Given the description of an element on the screen output the (x, y) to click on. 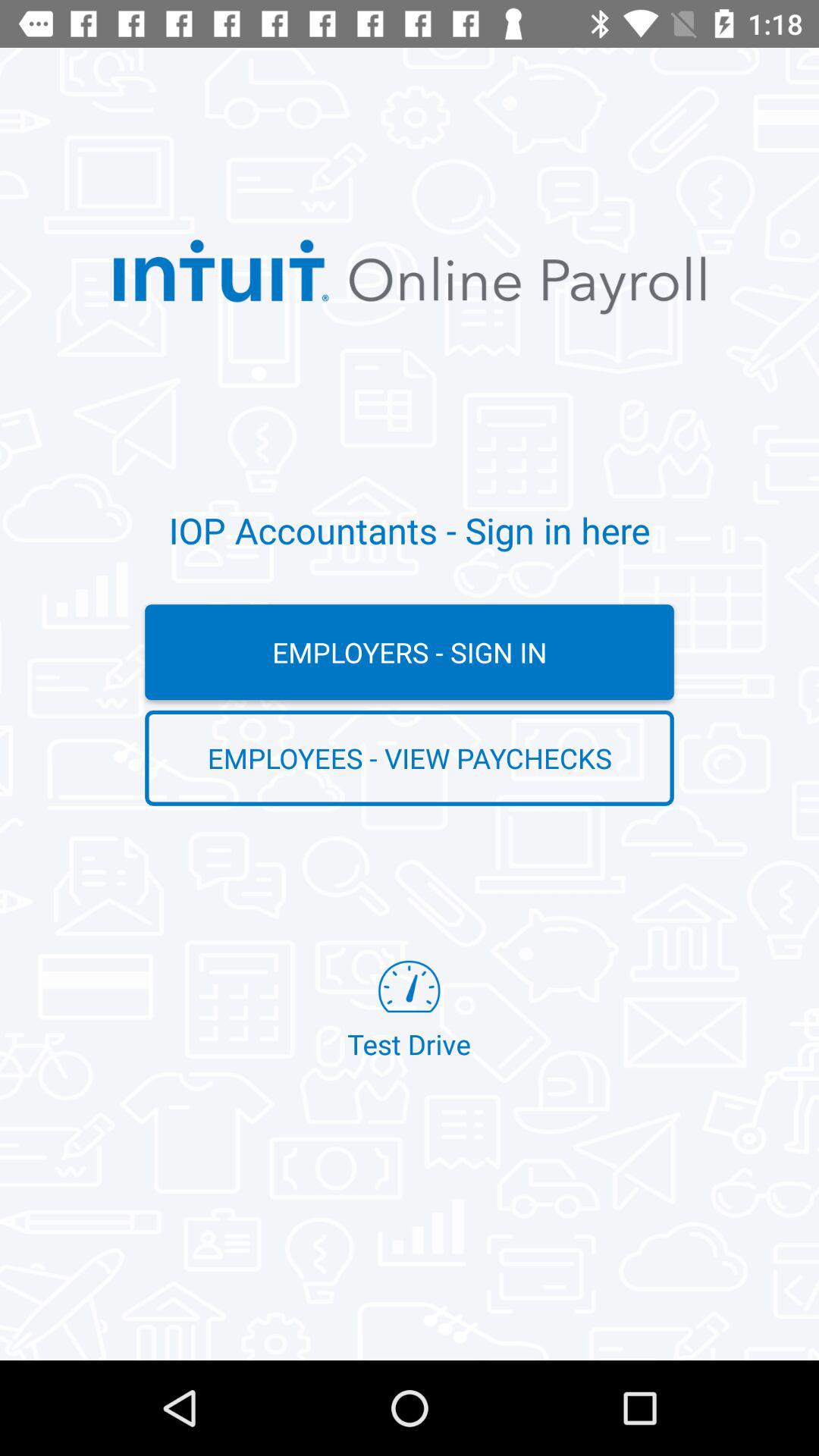
flip to the iop accountants sign icon (409, 530)
